Given the description of an element on the screen output the (x, y) to click on. 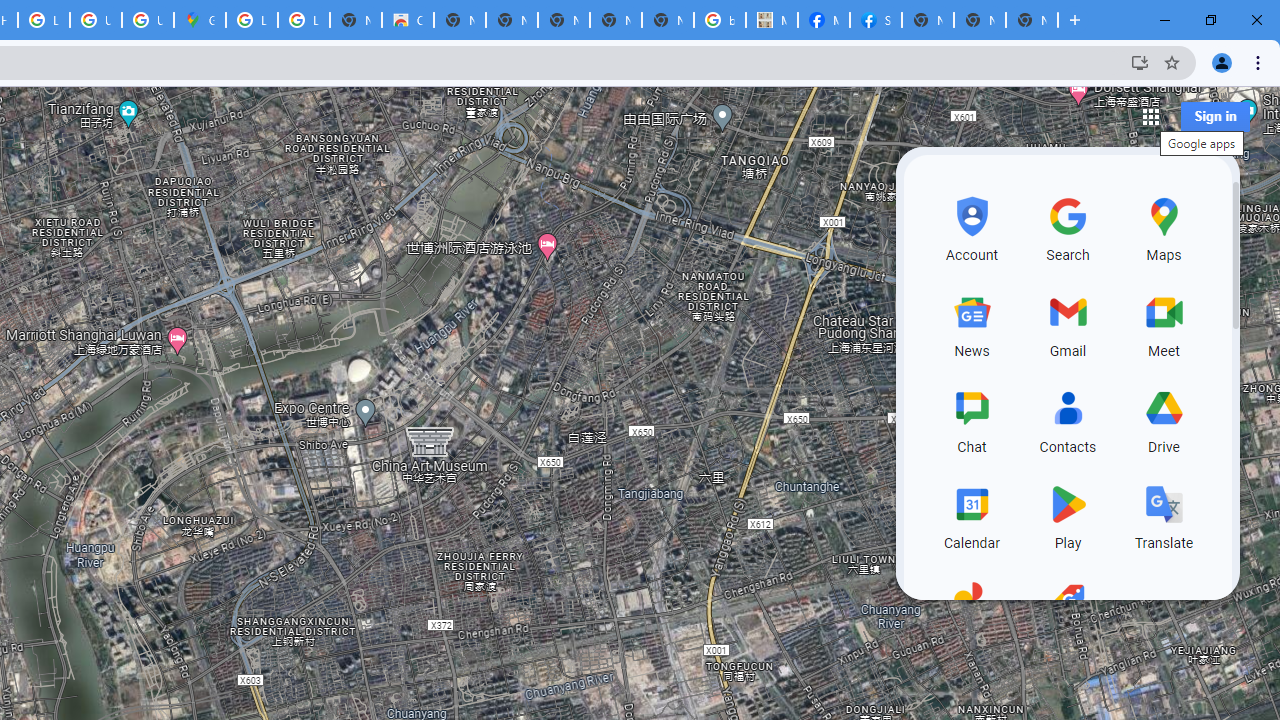
New Tab (927, 20)
